Given the description of an element on the screen output the (x, y) to click on. 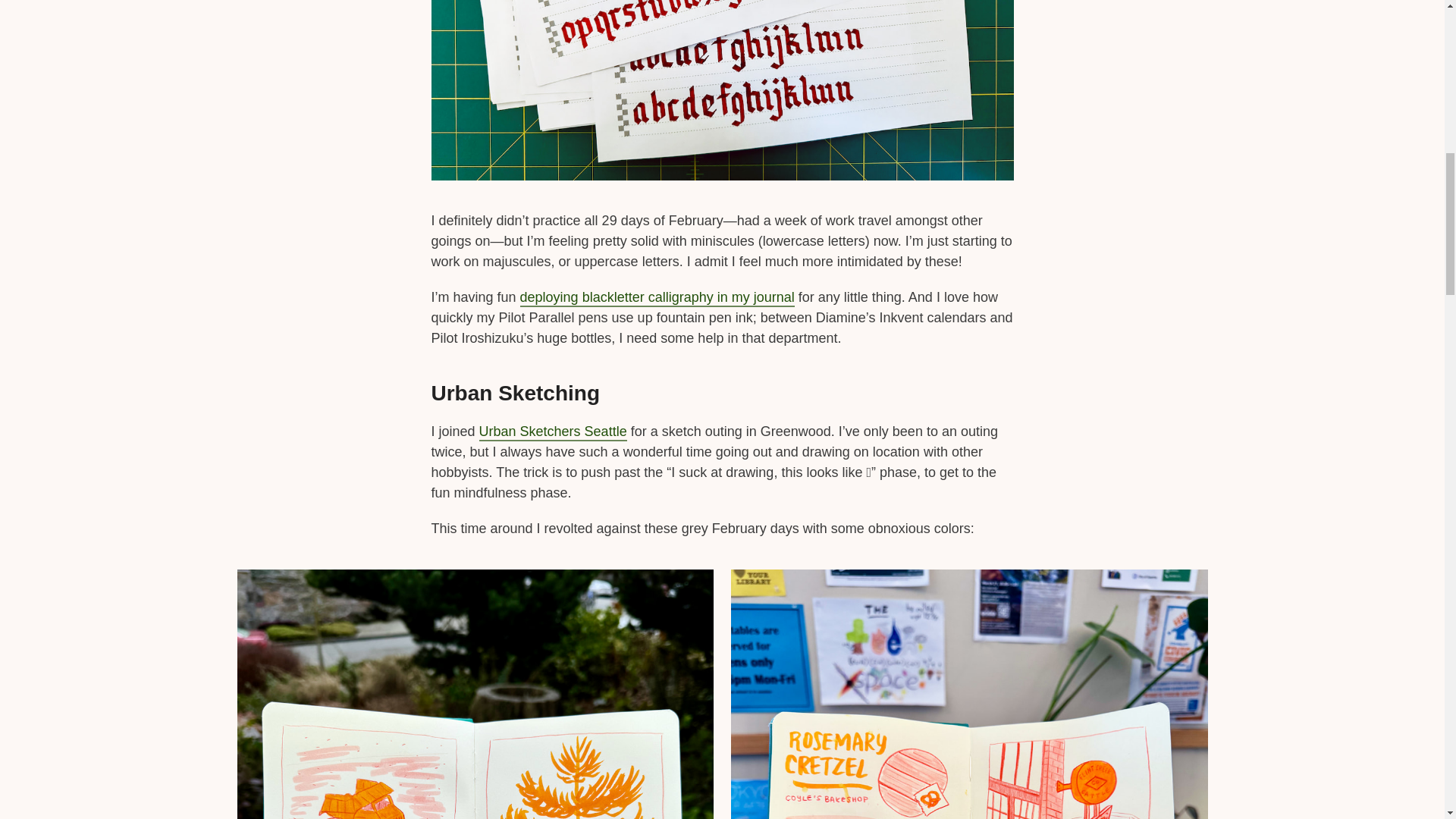
Urban Sketchers Seattle (553, 432)
deploying blackletter calligraphy in my journal (656, 298)
